Given the description of an element on the screen output the (x, y) to click on. 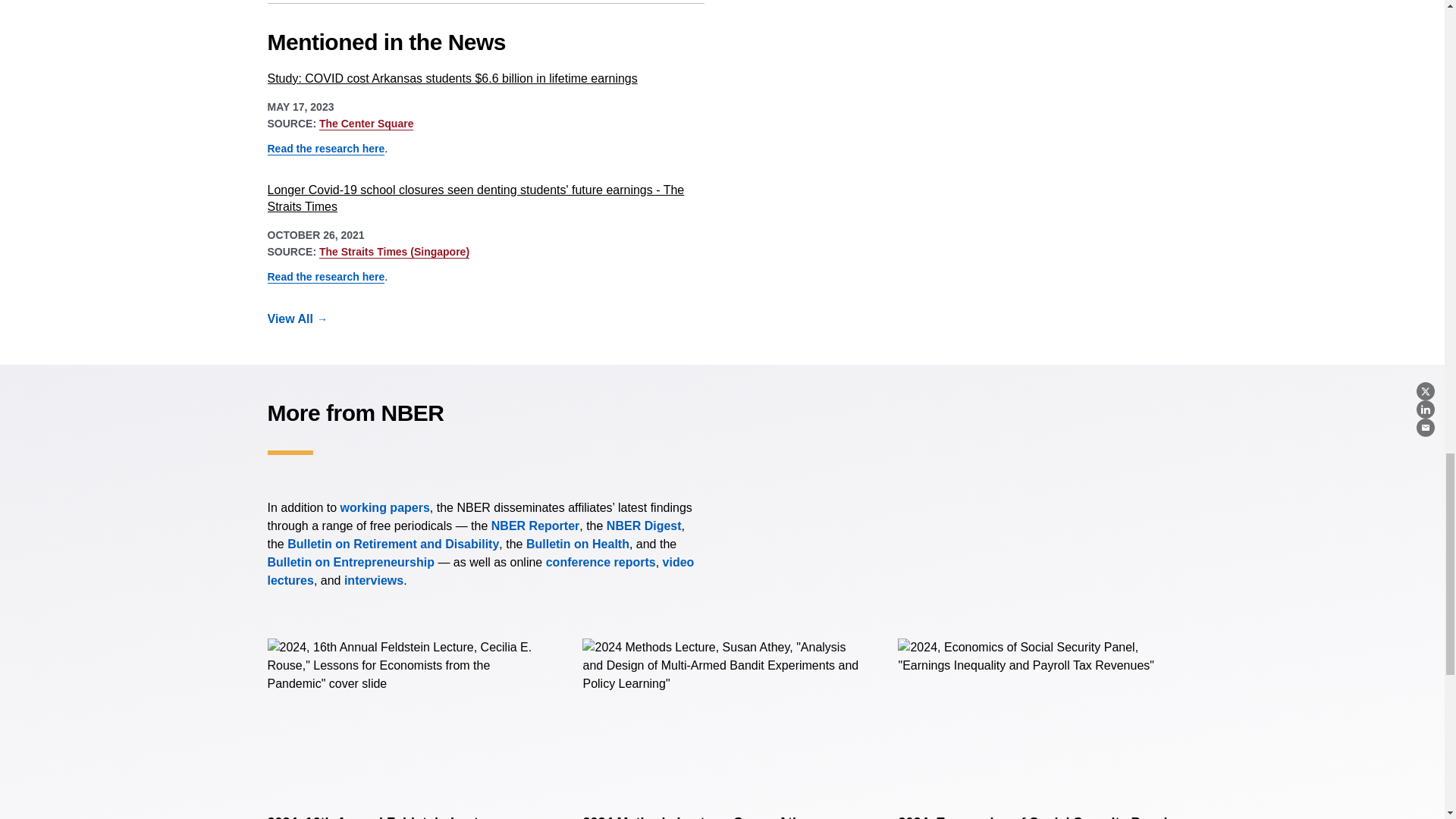
View all references to this paper (305, 319)
Working Papers (384, 507)
Lectures (480, 571)
Research Spotlights (373, 580)
Conferences (601, 562)
